Given the description of an element on the screen output the (x, y) to click on. 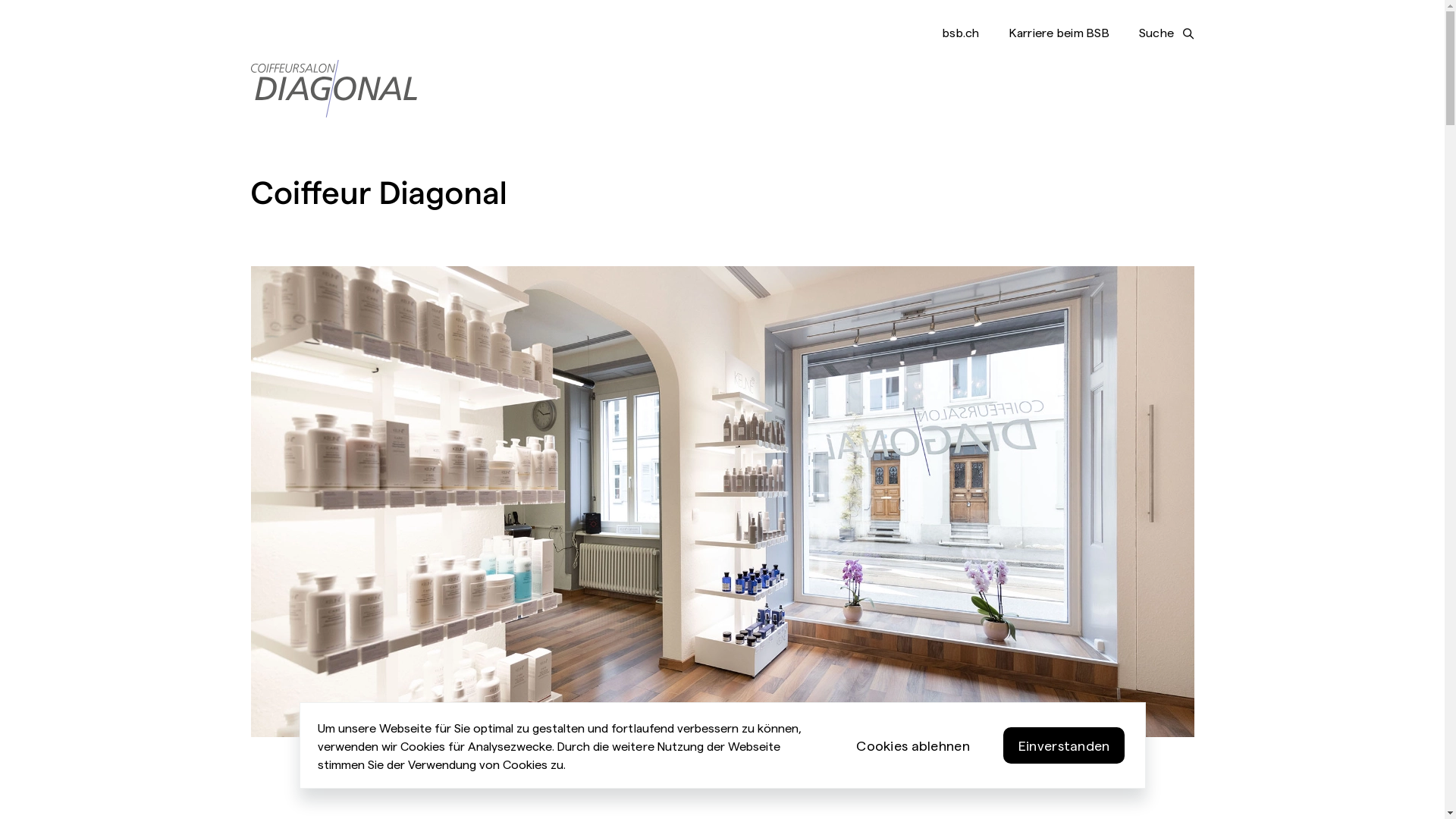
Cookies ablehnen Element type: text (912, 745)
bsb.ch Element type: text (960, 31)
Karriere beim BSB Element type: text (1059, 31)
Einverstanden Element type: text (1064, 745)
Coiffeursalon  Element type: hover (721, 501)
Suche Element type: text (1166, 32)
